Given the description of an element on the screen output the (x, y) to click on. 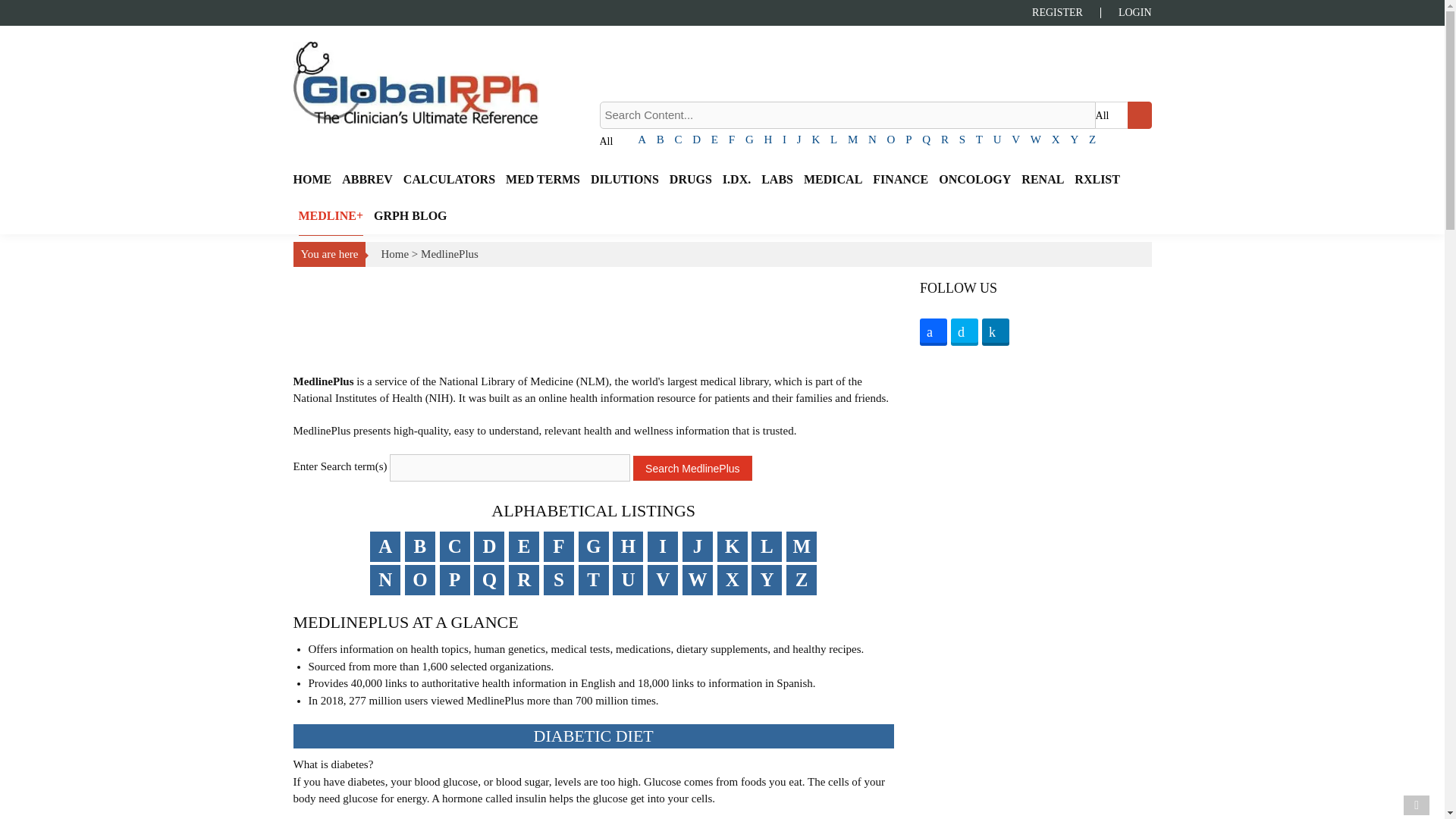
HOME (311, 179)
Share on Facebook (933, 331)
I.DX. (736, 179)
LOGIN (1125, 12)
REGISTER (1066, 12)
Search (1138, 114)
Share on Twitter (964, 331)
CALCULATORS (449, 179)
Search for: (846, 114)
